Given the description of an element on the screen output the (x, y) to click on. 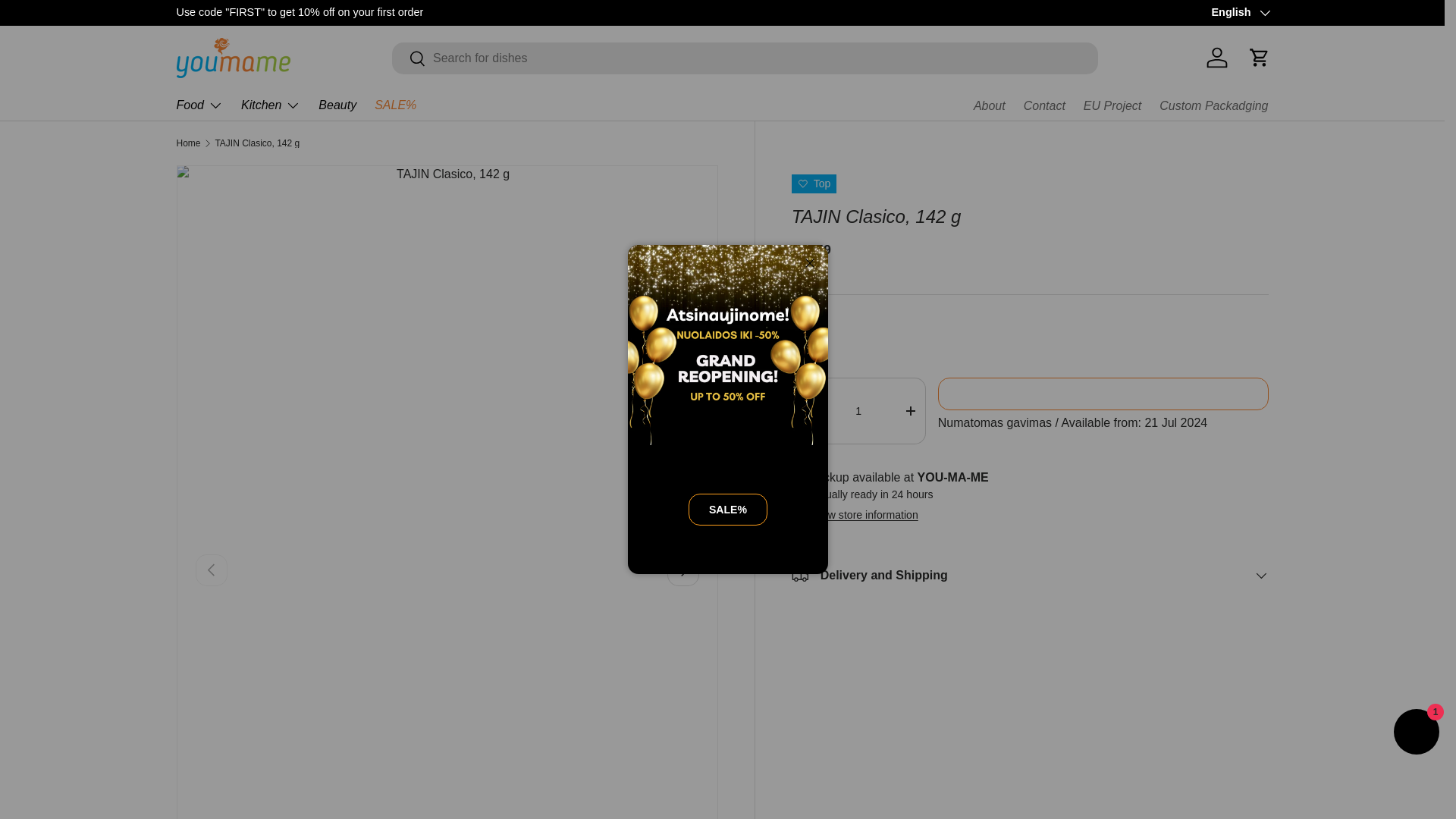
Shopify online store chat (1416, 733)
Log in (1216, 57)
English (1239, 12)
Search (408, 58)
1 (858, 410)
Food (199, 105)
Skip to content (68, 21)
Cart (1258, 57)
